Given the description of an element on the screen output the (x, y) to click on. 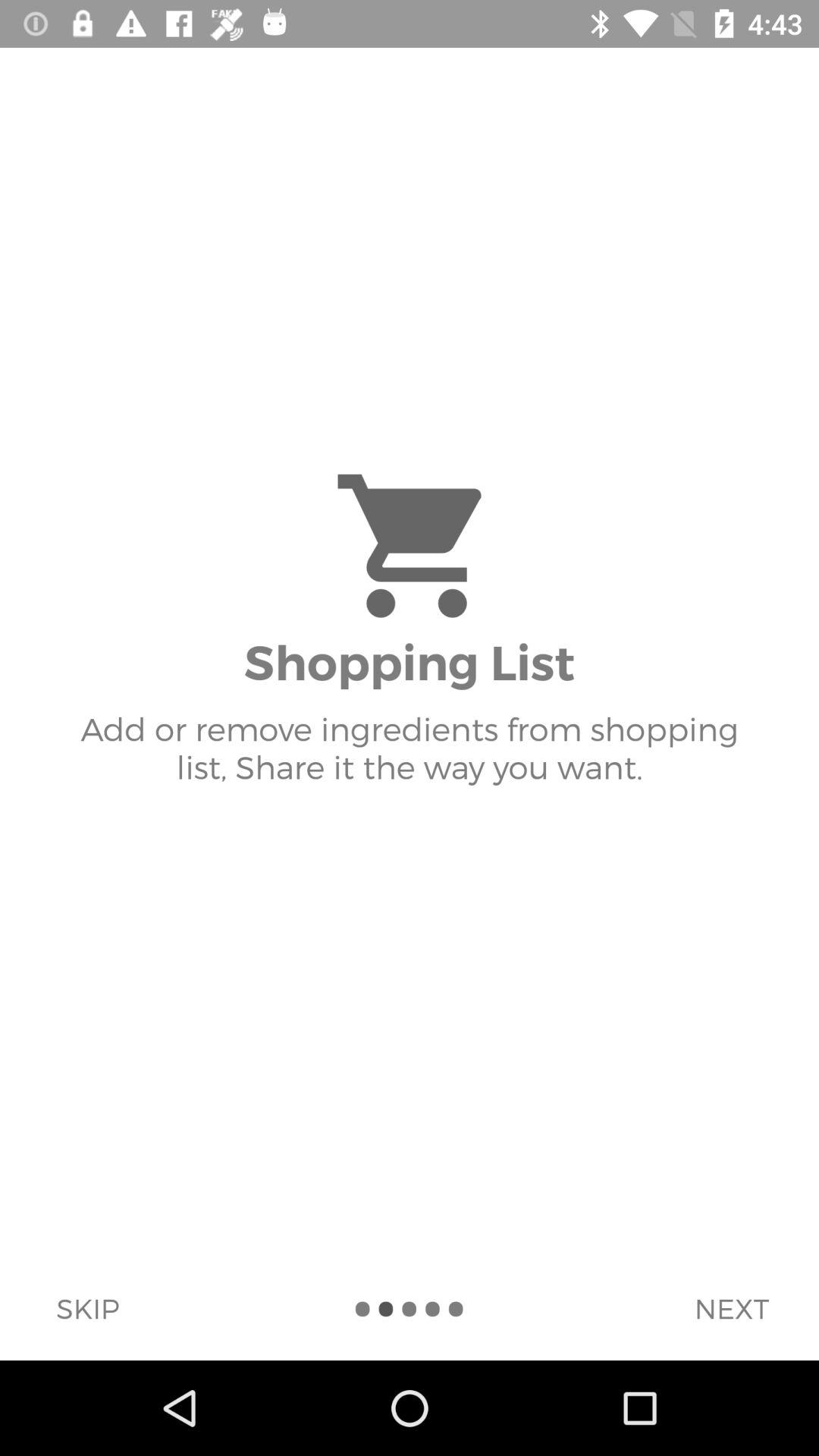
choose the item below add or remove (731, 1308)
